Given the description of an element on the screen output the (x, y) to click on. 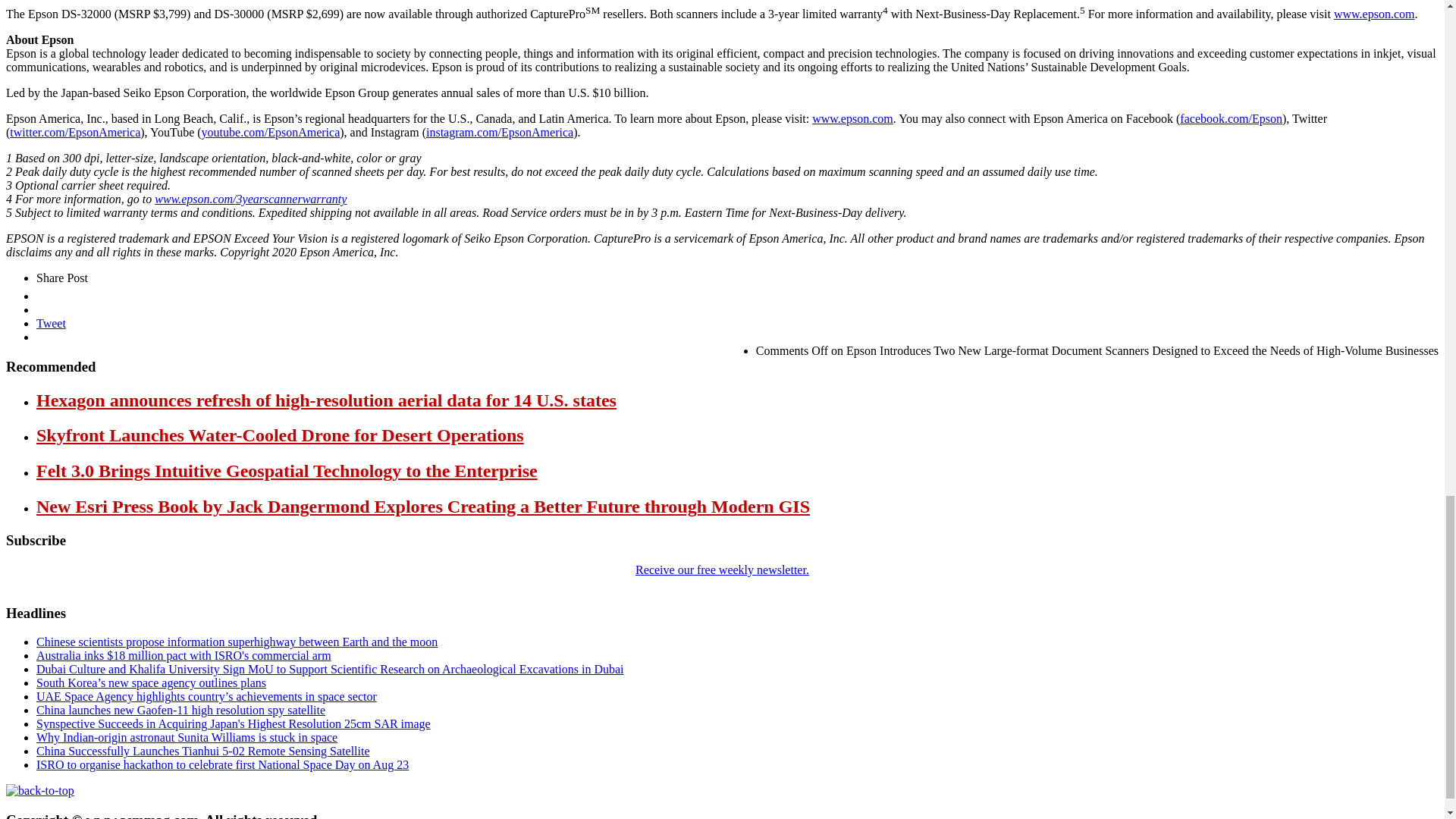
Skyfront Launches Water-Cooled Drone for Desert Operations (280, 435)
